Given the description of an element on the screen output the (x, y) to click on. 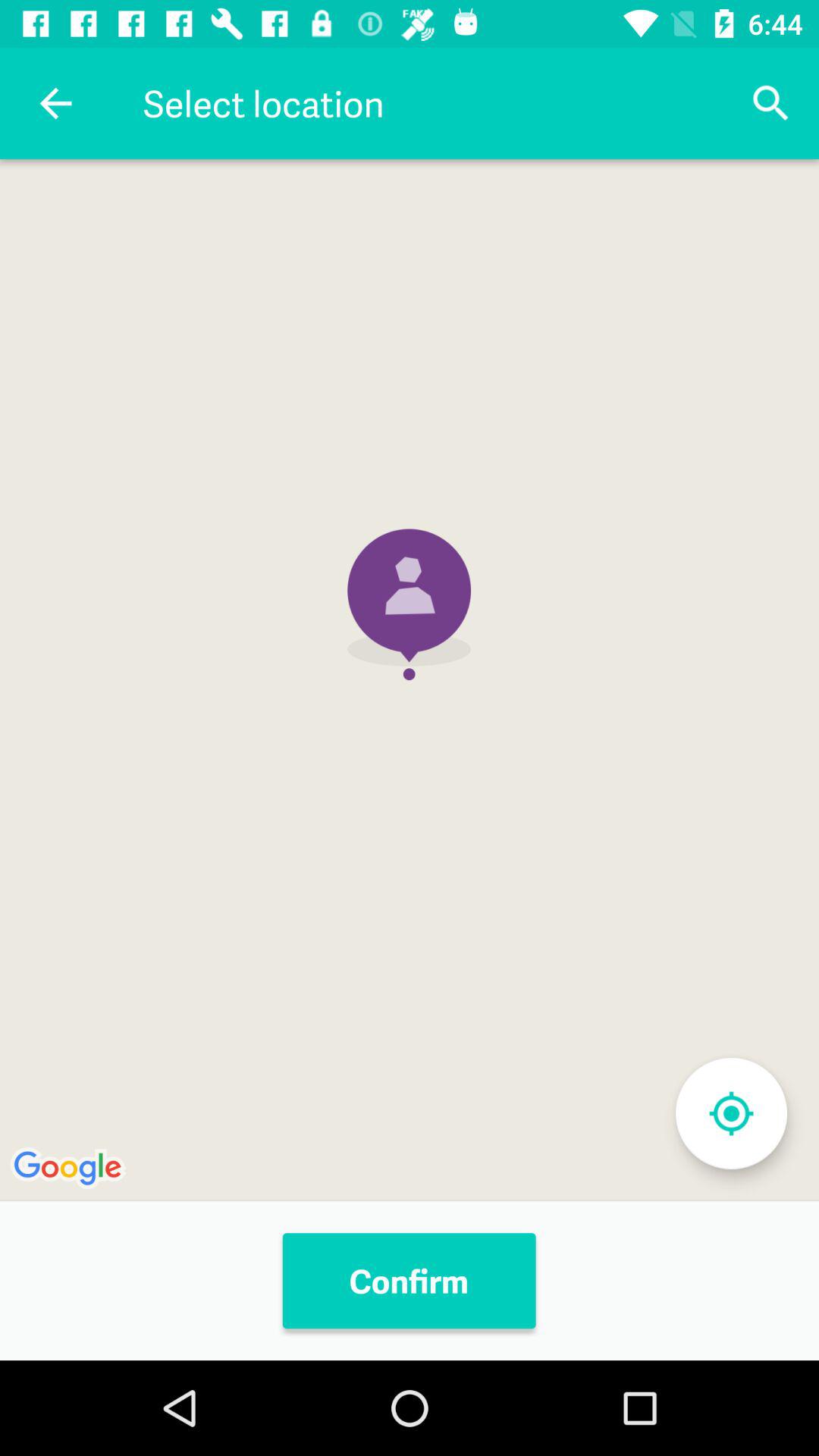
go back (55, 103)
